Given the description of an element on the screen output the (x, y) to click on. 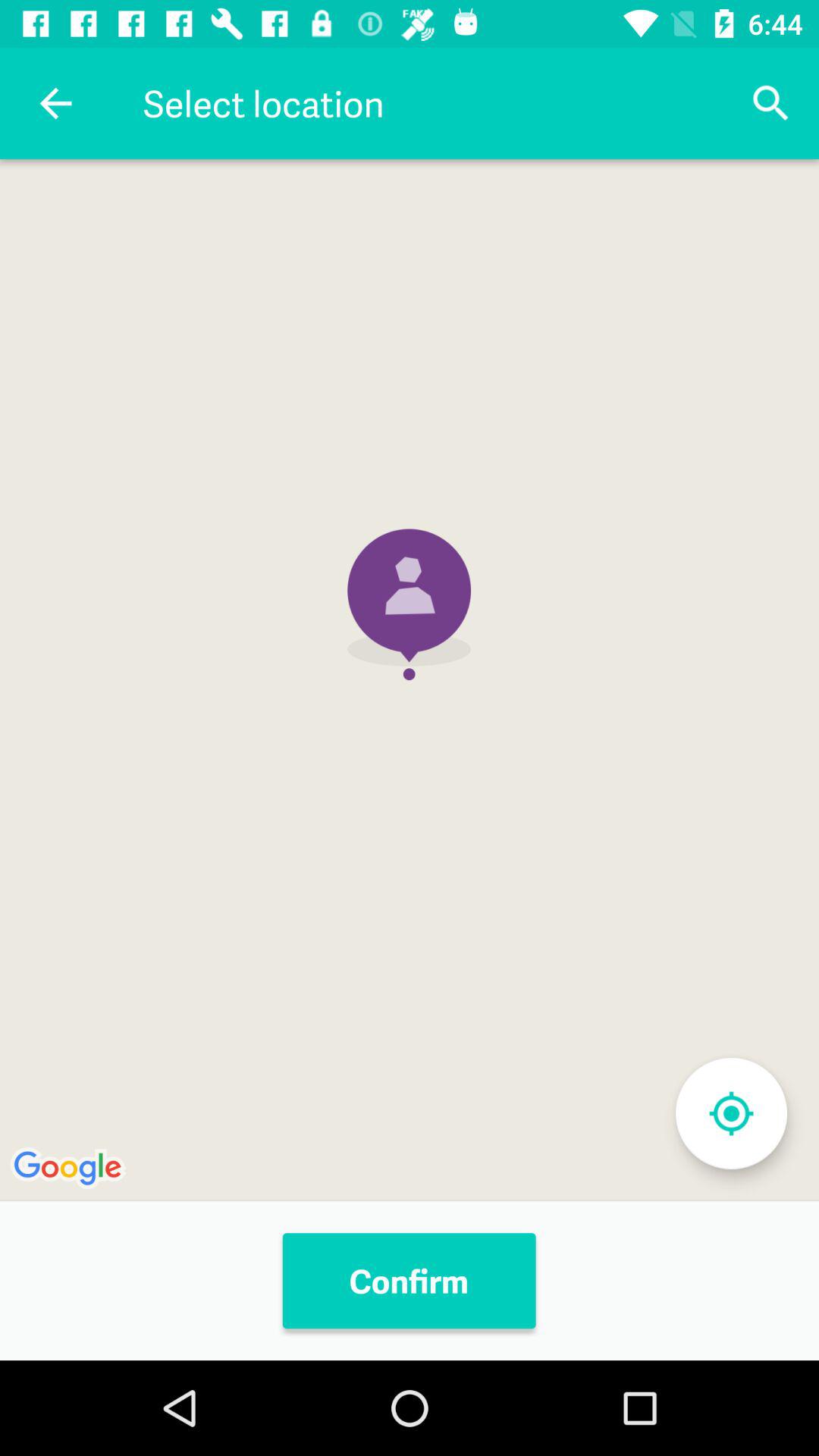
go back (55, 103)
